Given the description of an element on the screen output the (x, y) to click on. 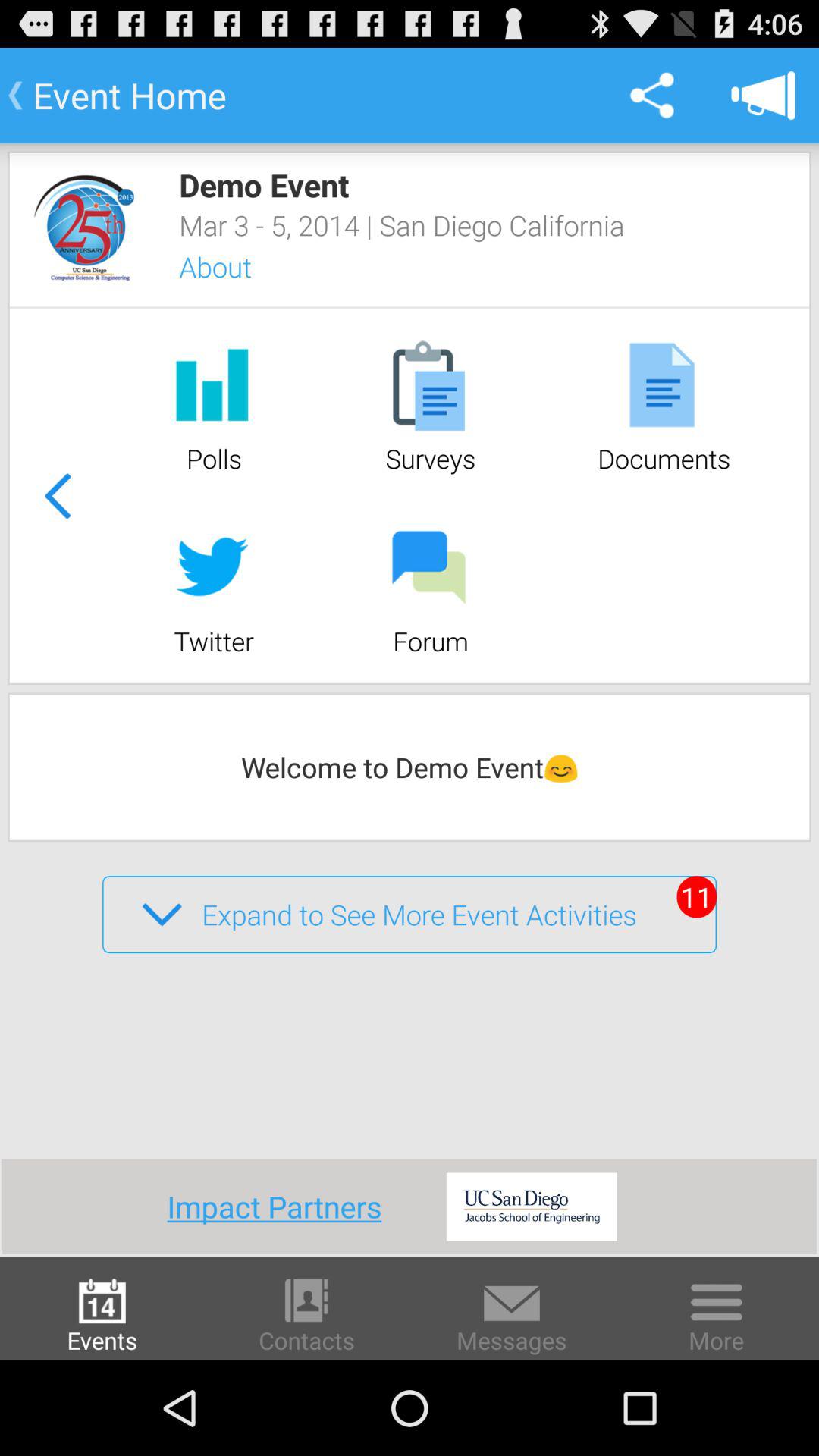
name of event (84, 227)
